Given the description of an element on the screen output the (x, y) to click on. 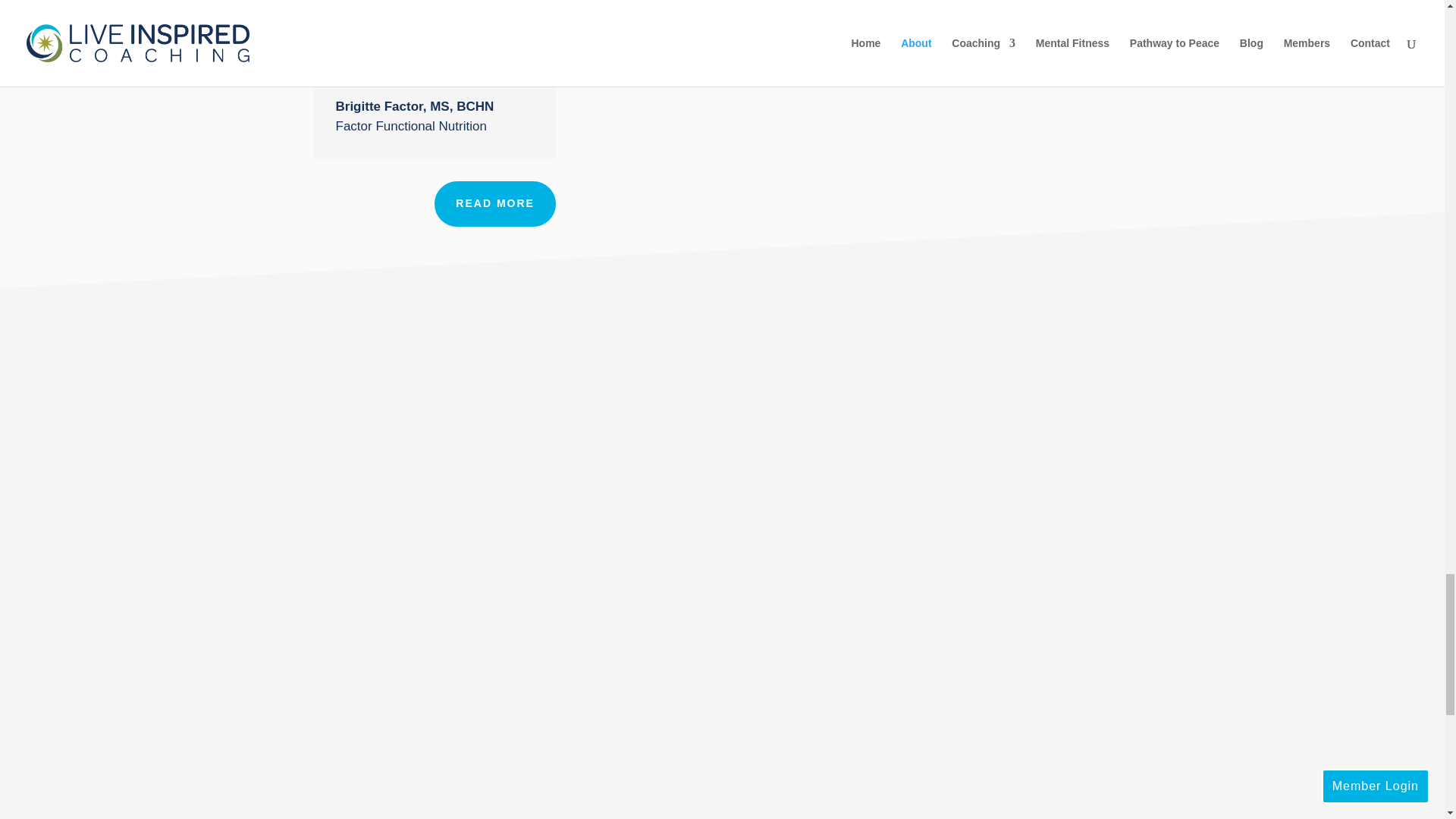
READ MORE (494, 203)
